Given the description of an element on the screen output the (x, y) to click on. 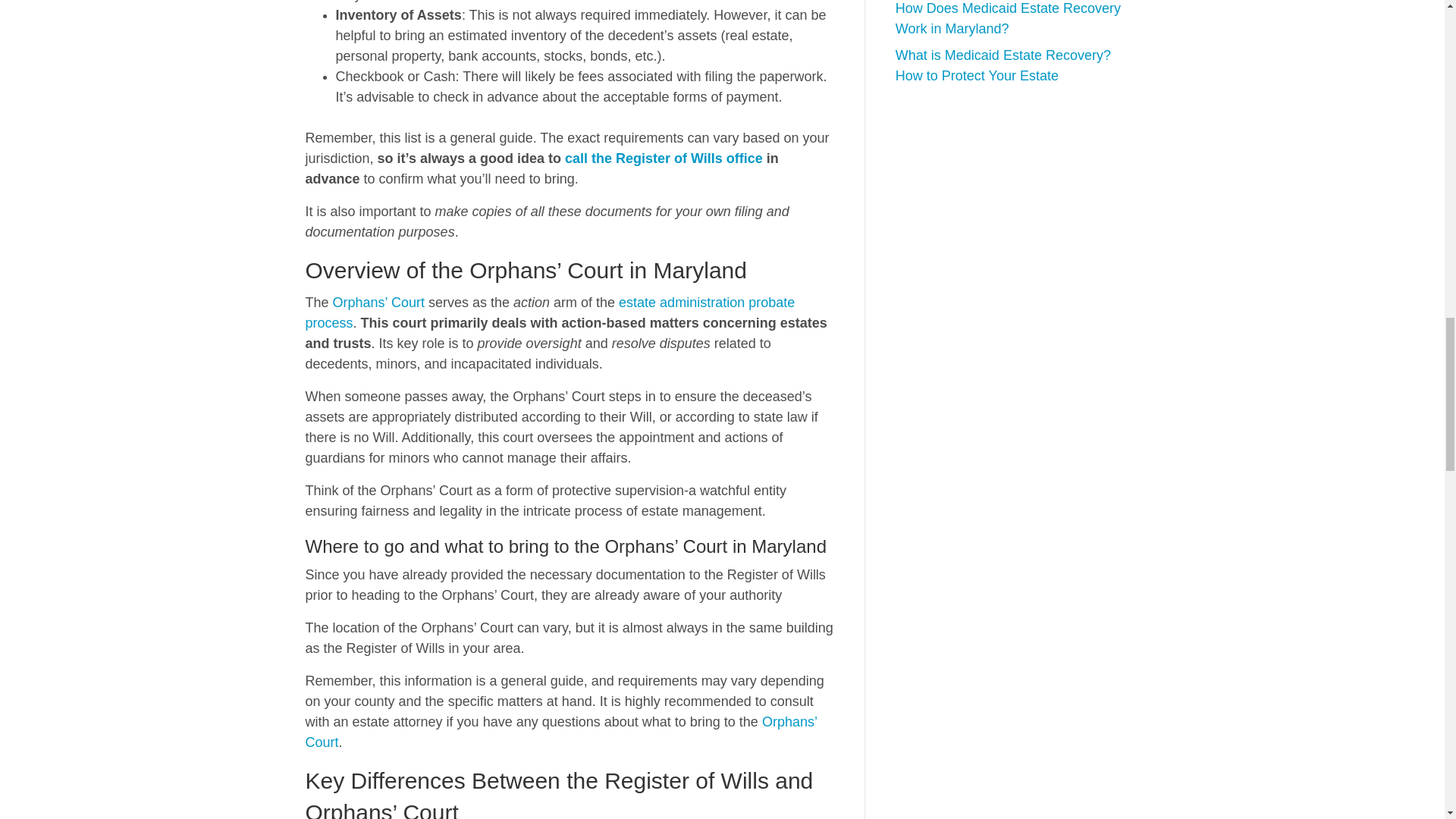
estate administration probate process (549, 312)
Maryland Orphans' Court (379, 302)
Register of Wills website (663, 158)
call the Register of Wills office (663, 158)
